Given the description of an element on the screen output the (x, y) to click on. 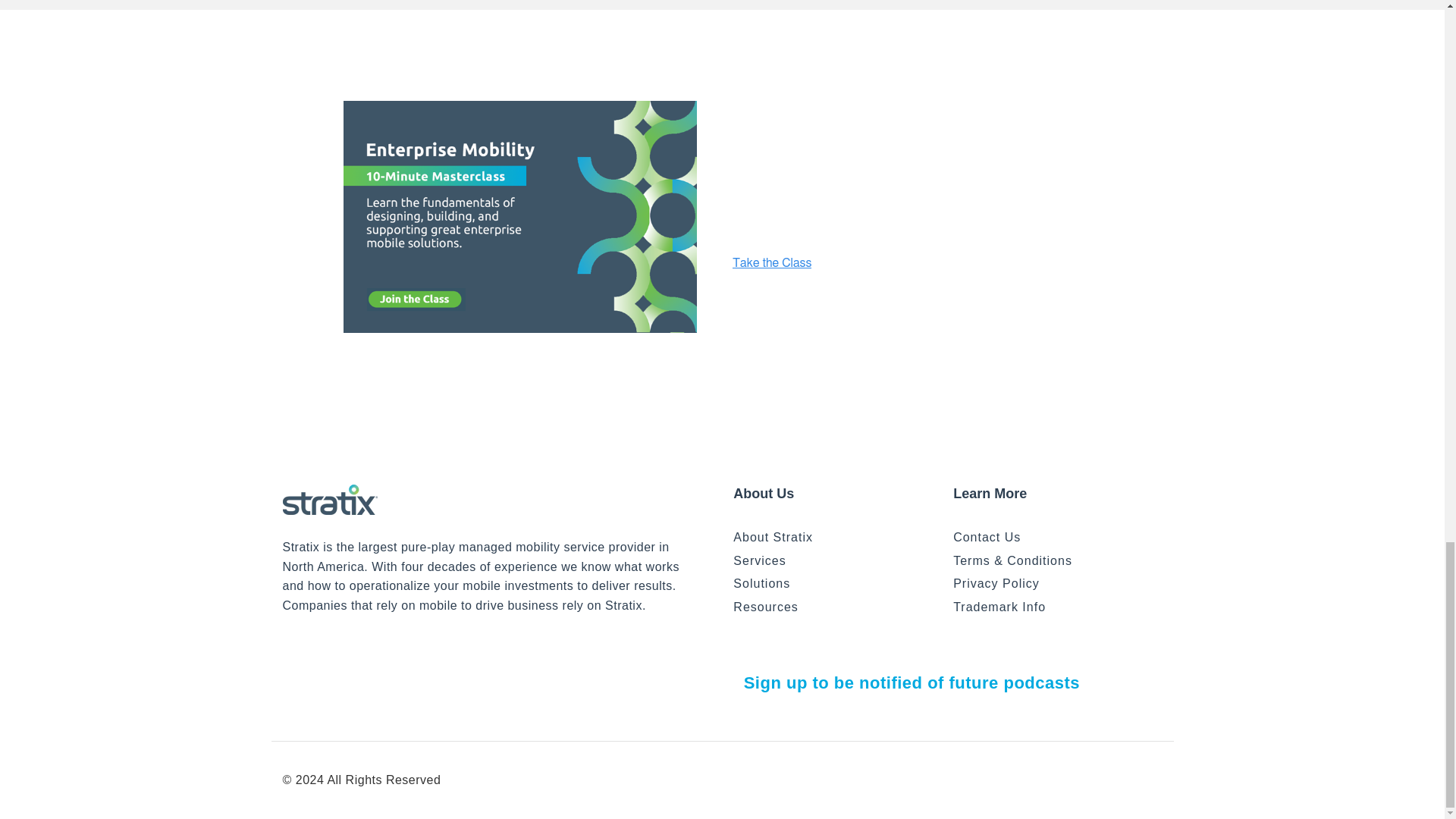
Solutions (837, 583)
Trademark Info (1057, 607)
Contact Us (1057, 537)
Services (837, 560)
Resources (837, 607)
About Stratix (837, 537)
Privacy Policy (1057, 583)
